Given the description of an element on the screen output the (x, y) to click on. 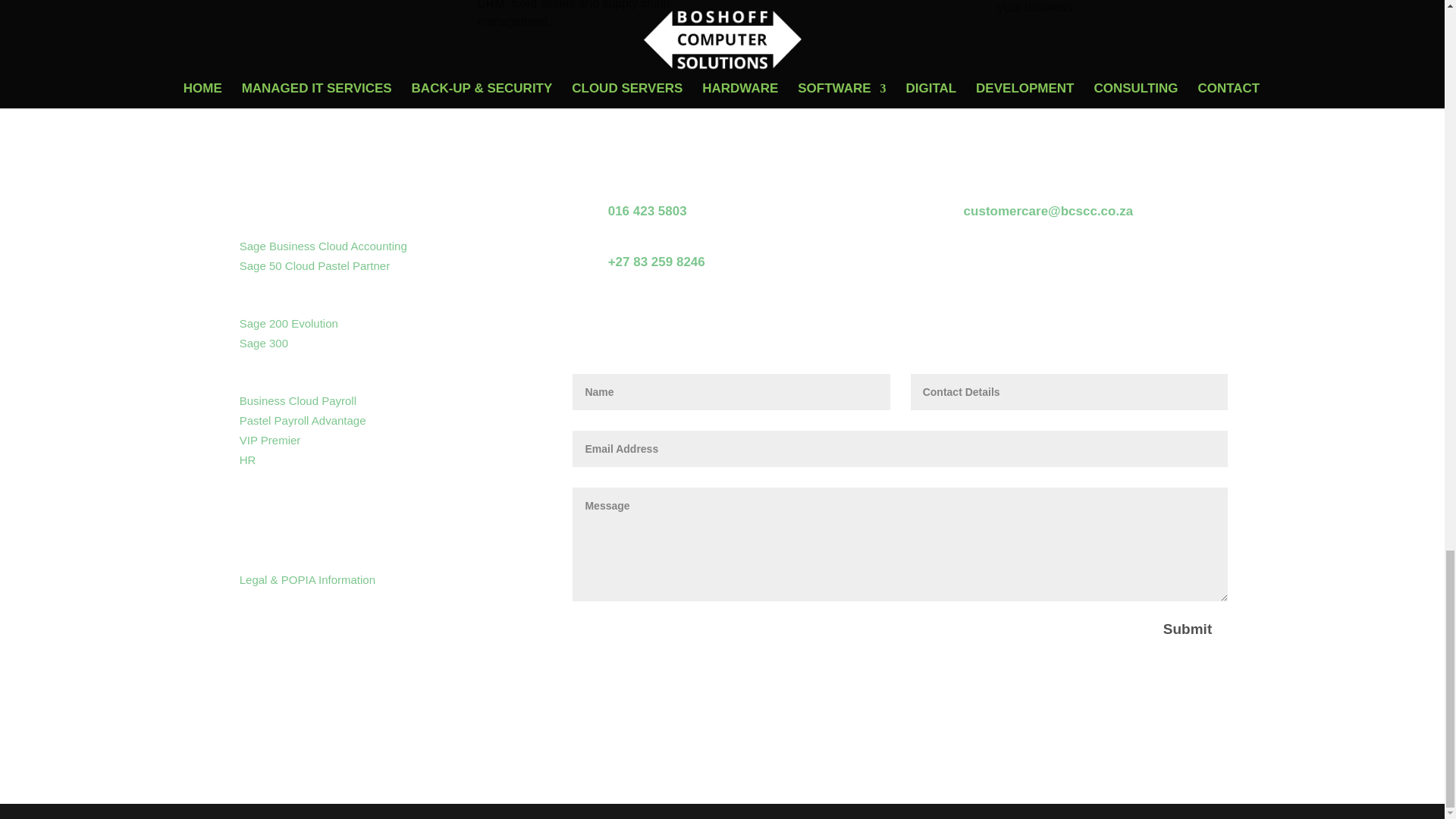
016 423 5803 (647, 210)
Sage Business Cloud Accounting (323, 245)
Sage 300 (264, 342)
Sage 50 Cloud Pastel Partner (315, 265)
Xperdyte (288, 496)
Sage 200 Evolution (288, 323)
Business Cloud Payroll (298, 400)
Pastel Payroll Advantage (303, 420)
VIP Premier (270, 440)
Get Internet For Your Business (368, 538)
HR (248, 459)
